Given the description of an element on the screen output the (x, y) to click on. 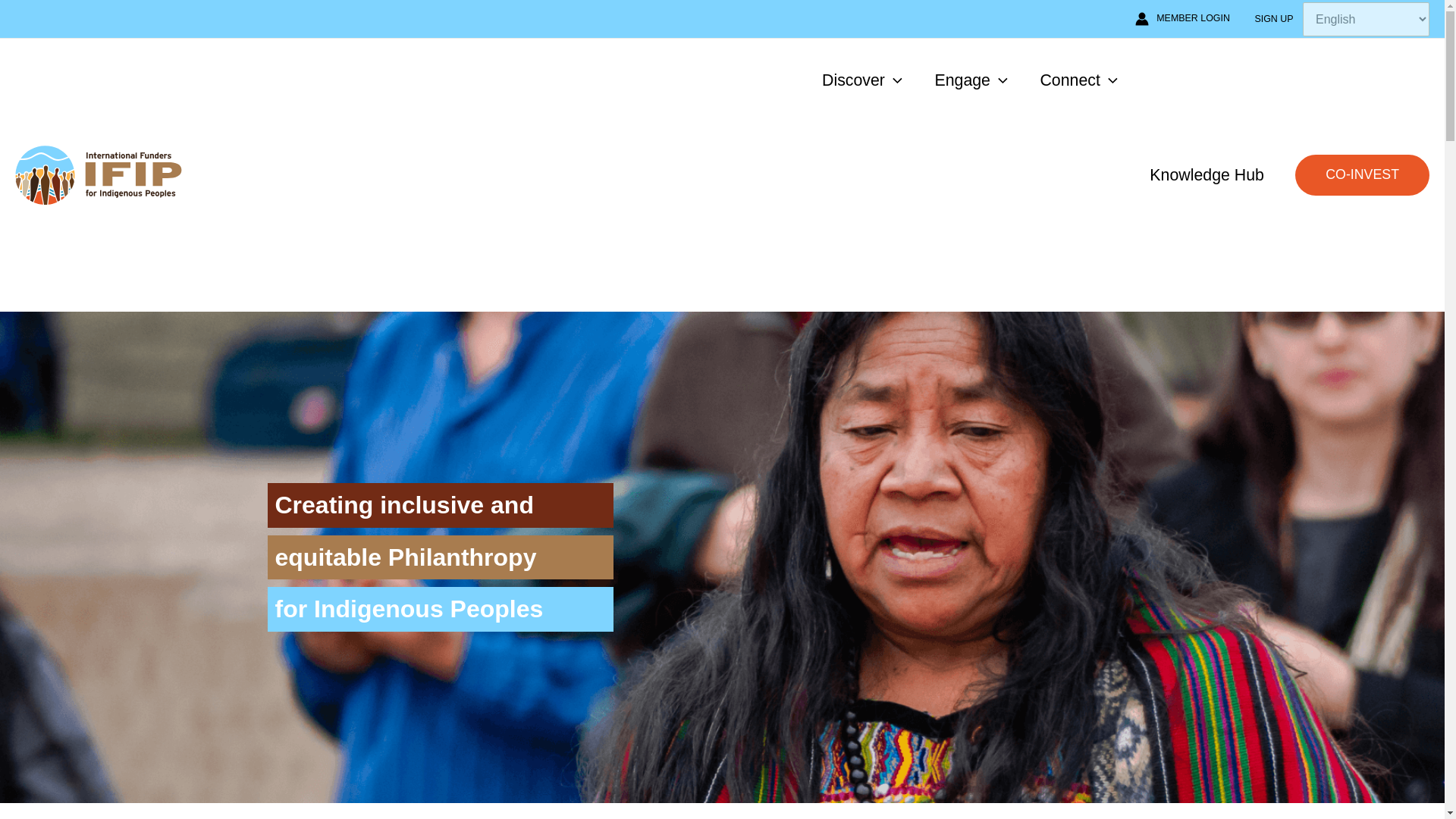
CO-INVEST (1362, 174)
Engage (970, 80)
Connect (1078, 80)
Discover (862, 80)
SIGN UP (1273, 18)
MEMBER LOGIN (1182, 18)
